Given the description of an element on the screen output the (x, y) to click on. 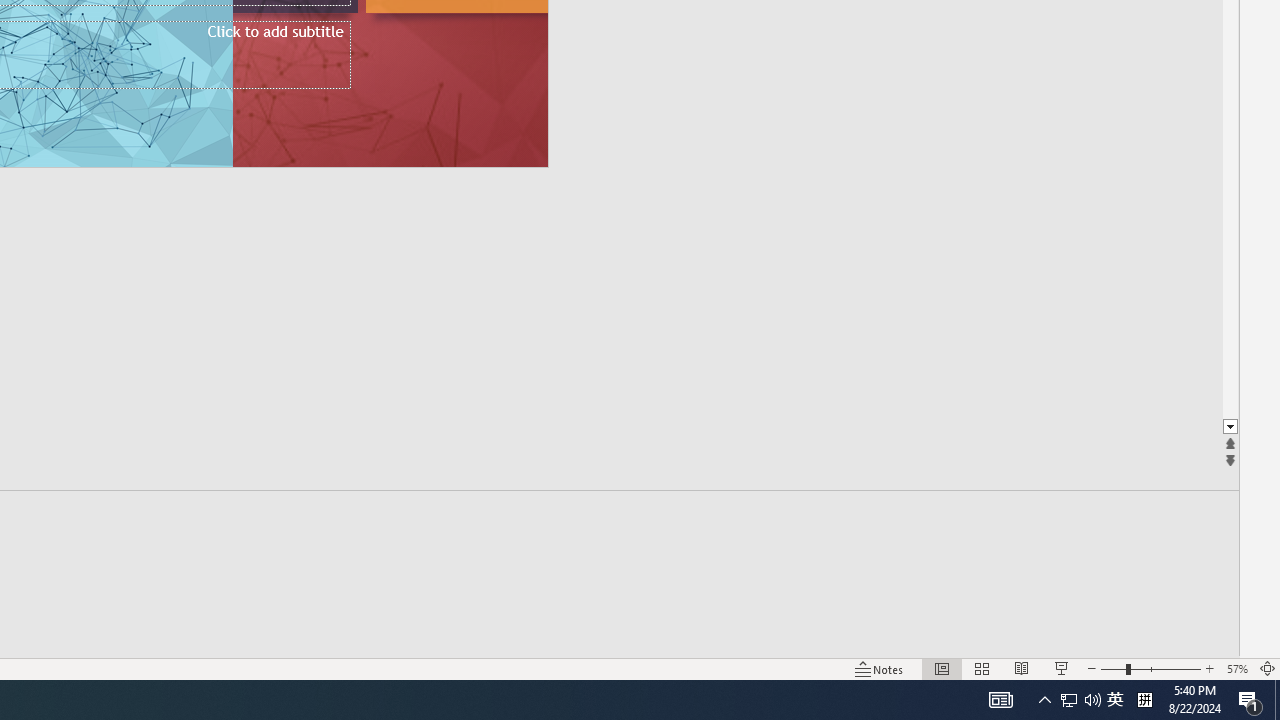
Zoom 57% (1236, 668)
